Given the description of an element on the screen output the (x, y) to click on. 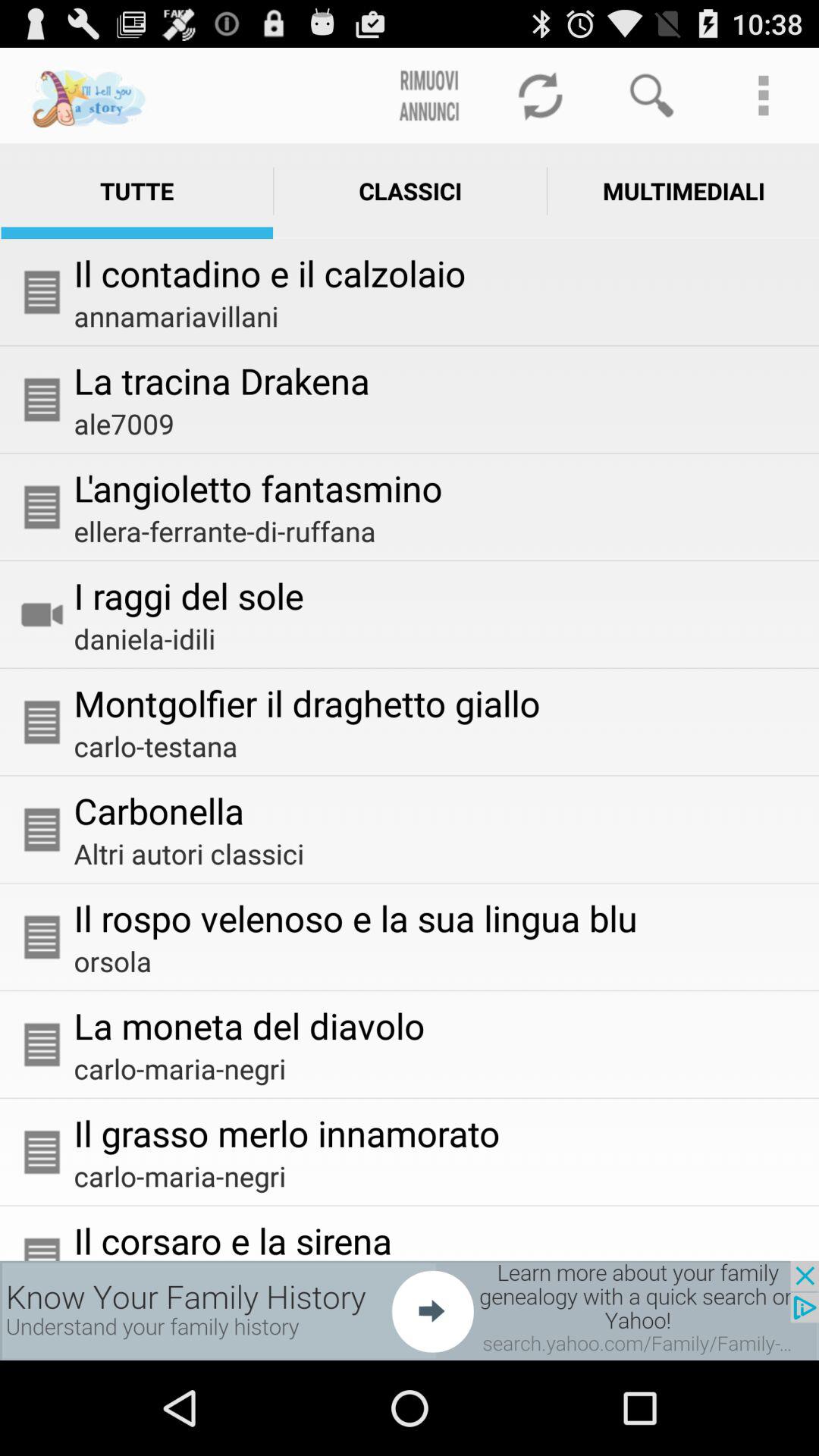
view advertisement (409, 1310)
